Given the description of an element on the screen output the (x, y) to click on. 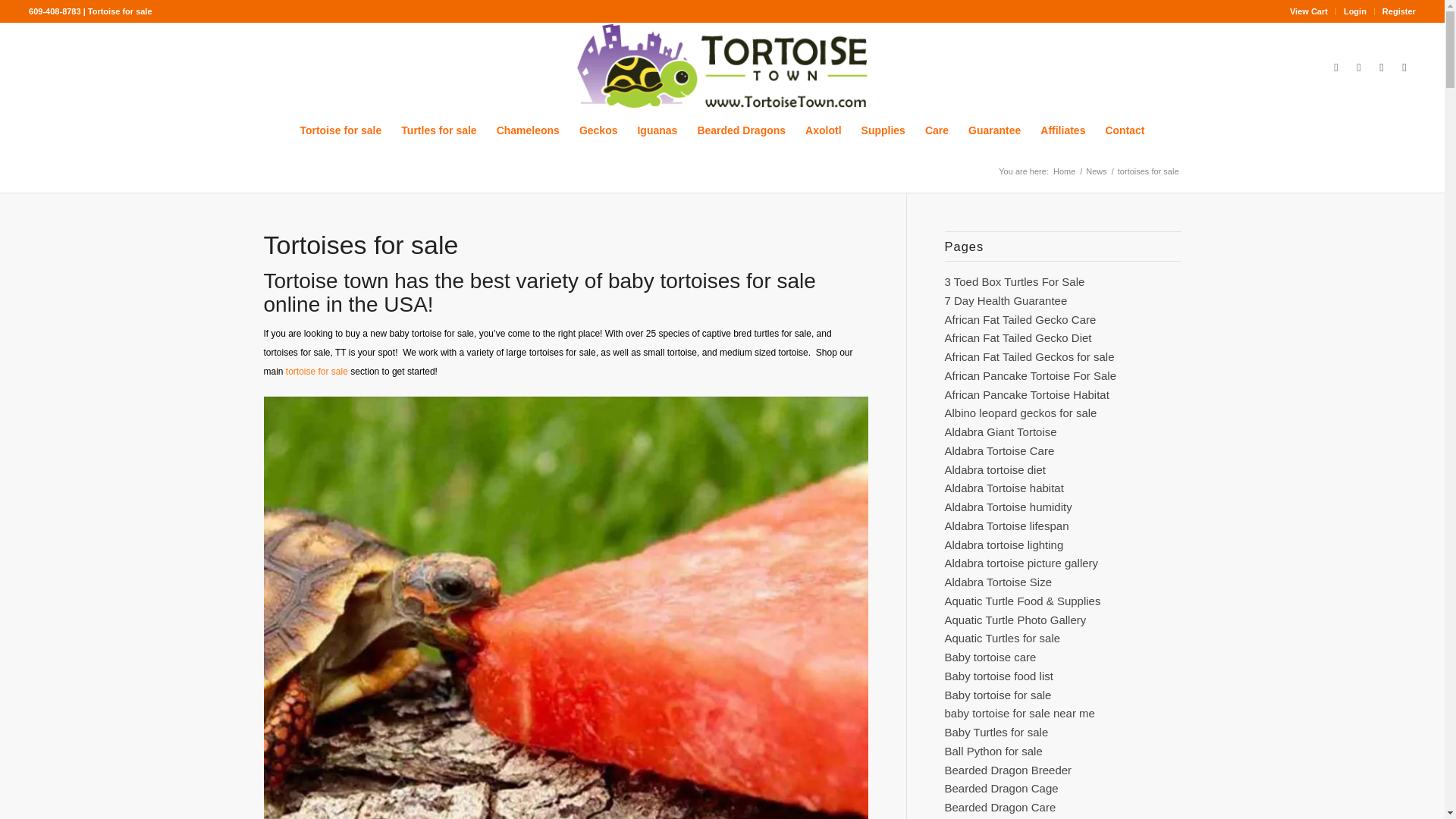
Login (1355, 11)
tortoise for sale 1 (721, 66)
News (1096, 171)
View Cart (1308, 11)
Youtube (1381, 67)
Facebook (1336, 67)
Pinterest (1404, 67)
Register (1398, 11)
Instagram (1359, 67)
Tortoise for sale (340, 130)
